Given the description of an element on the screen output the (x, y) to click on. 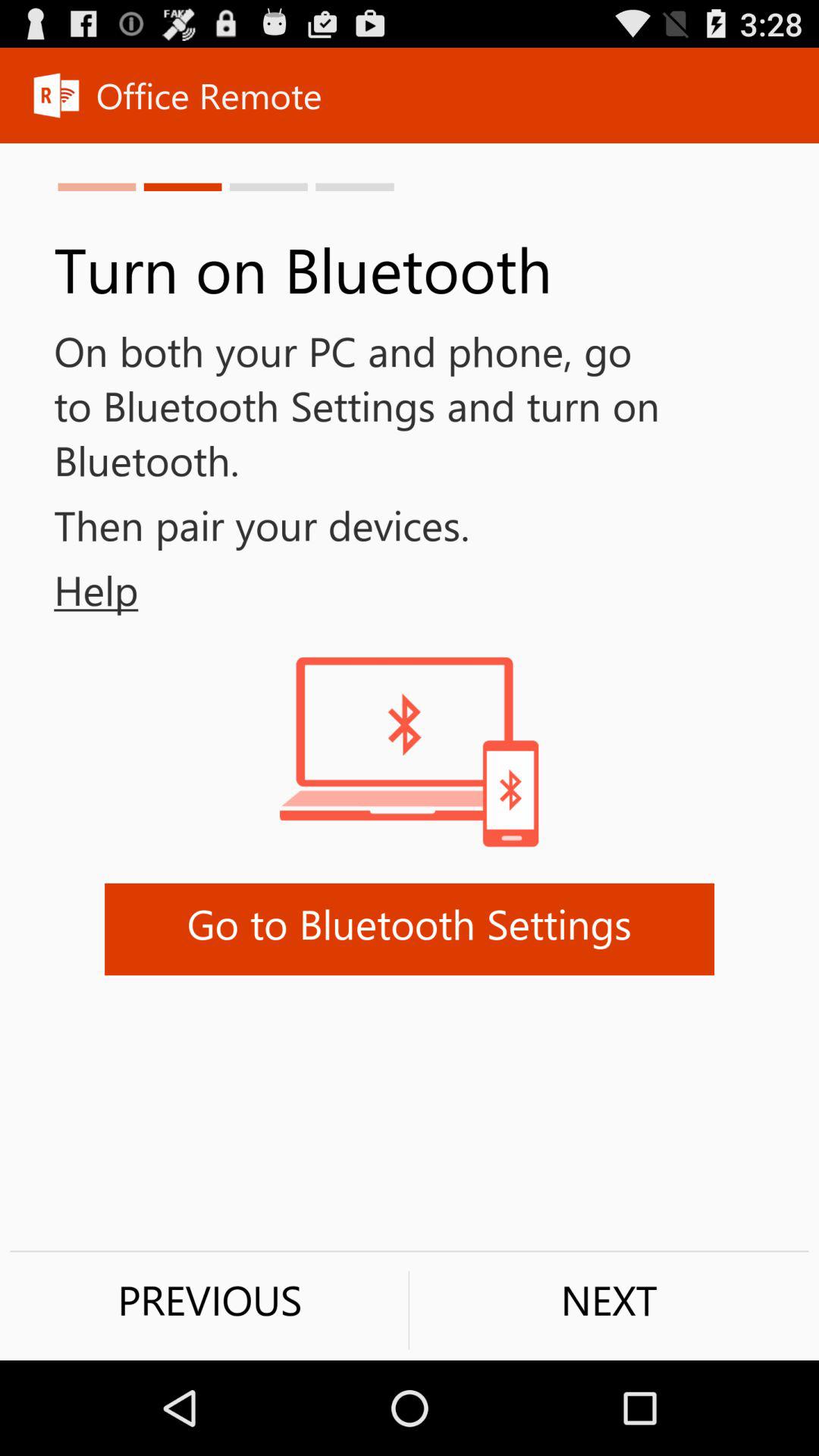
choose the next button (608, 1300)
